Given the description of an element on the screen output the (x, y) to click on. 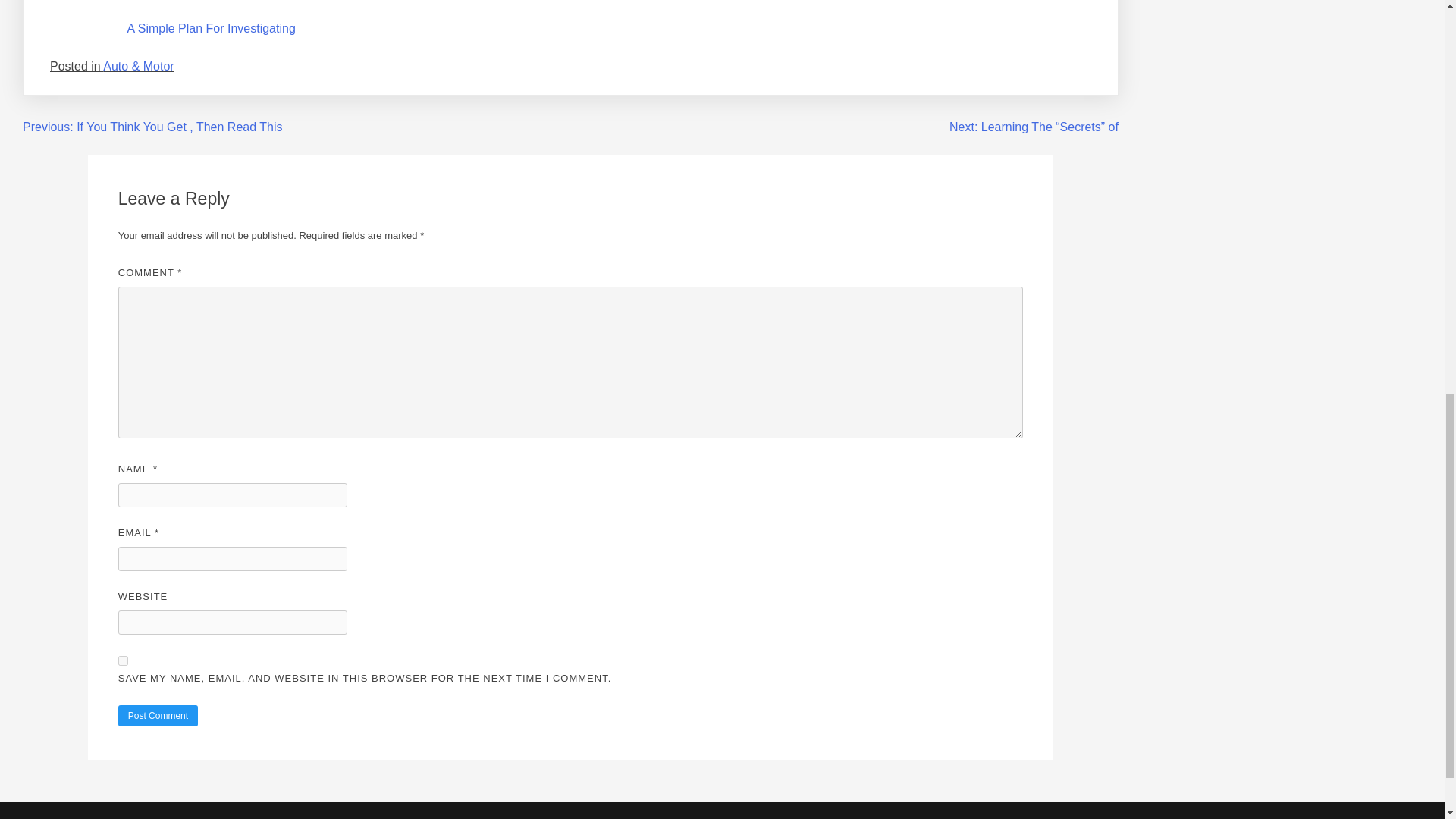
Post Comment (157, 715)
yes (122, 660)
Post Comment (157, 715)
A Simple Plan For Investigating (210, 28)
Previous: If You Think You Get , Then Read This (152, 126)
